Given the description of an element on the screen output the (x, y) to click on. 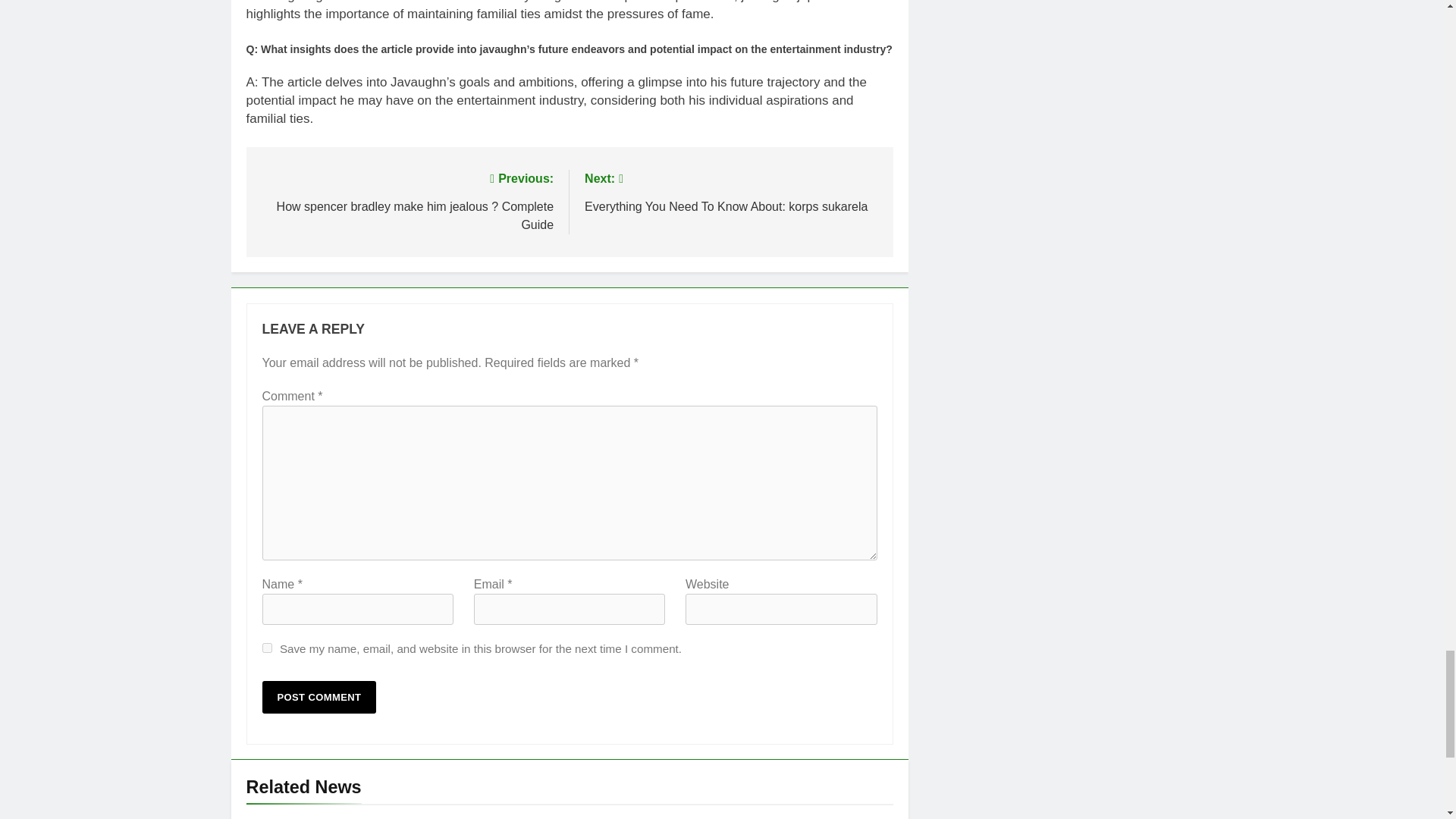
Post Comment (319, 696)
yes (267, 647)
